Given the description of an element on the screen output the (x, y) to click on. 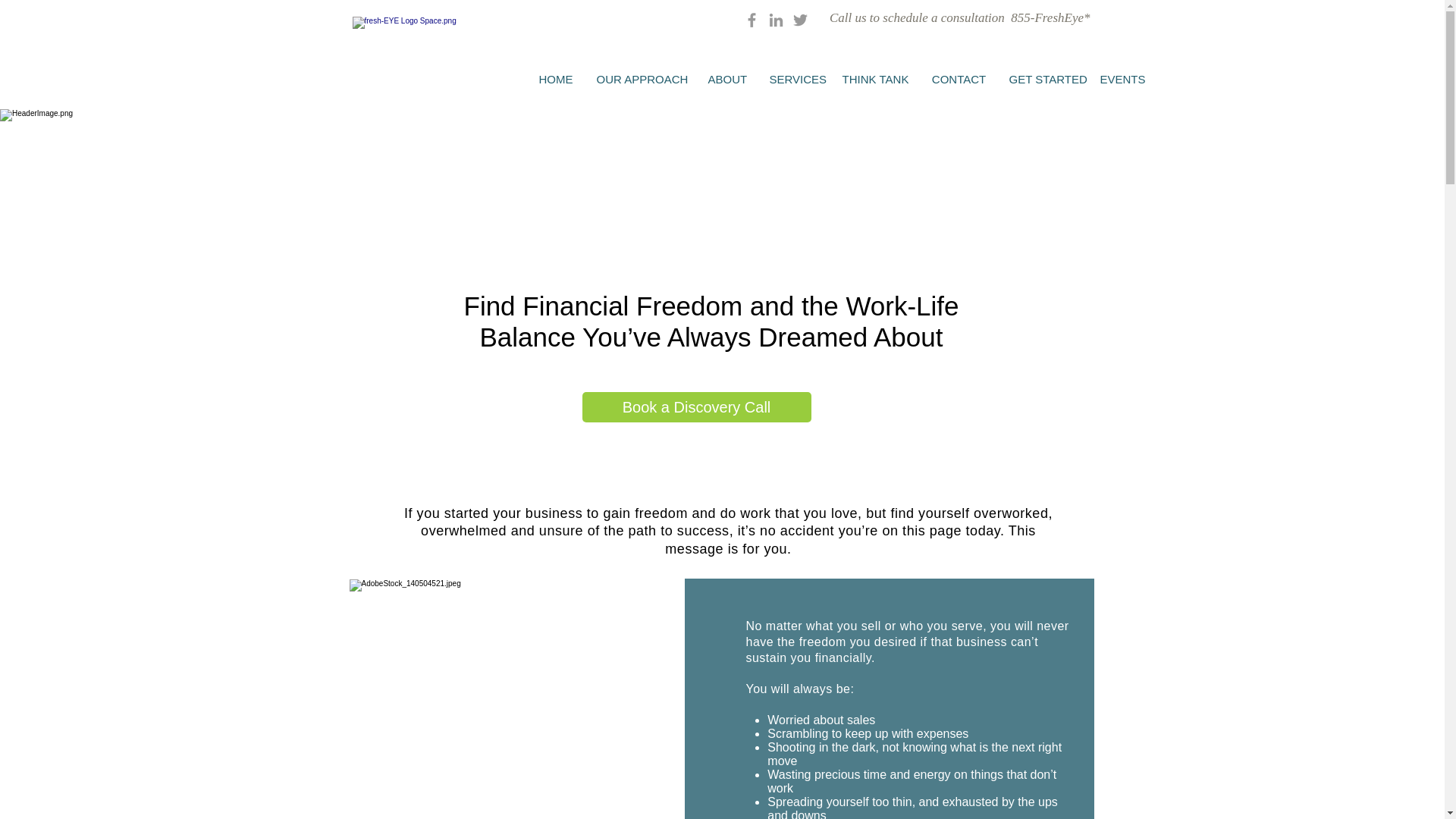
GET STARTED (1043, 79)
ABOUT (726, 79)
Book a Discovery Call (696, 407)
HOME (555, 79)
OUR APPROACH (641, 79)
THINK TANK (875, 79)
CONTACT (958, 79)
SERVICES (794, 79)
EVENTS (1121, 79)
